Given the description of an element on the screen output the (x, y) to click on. 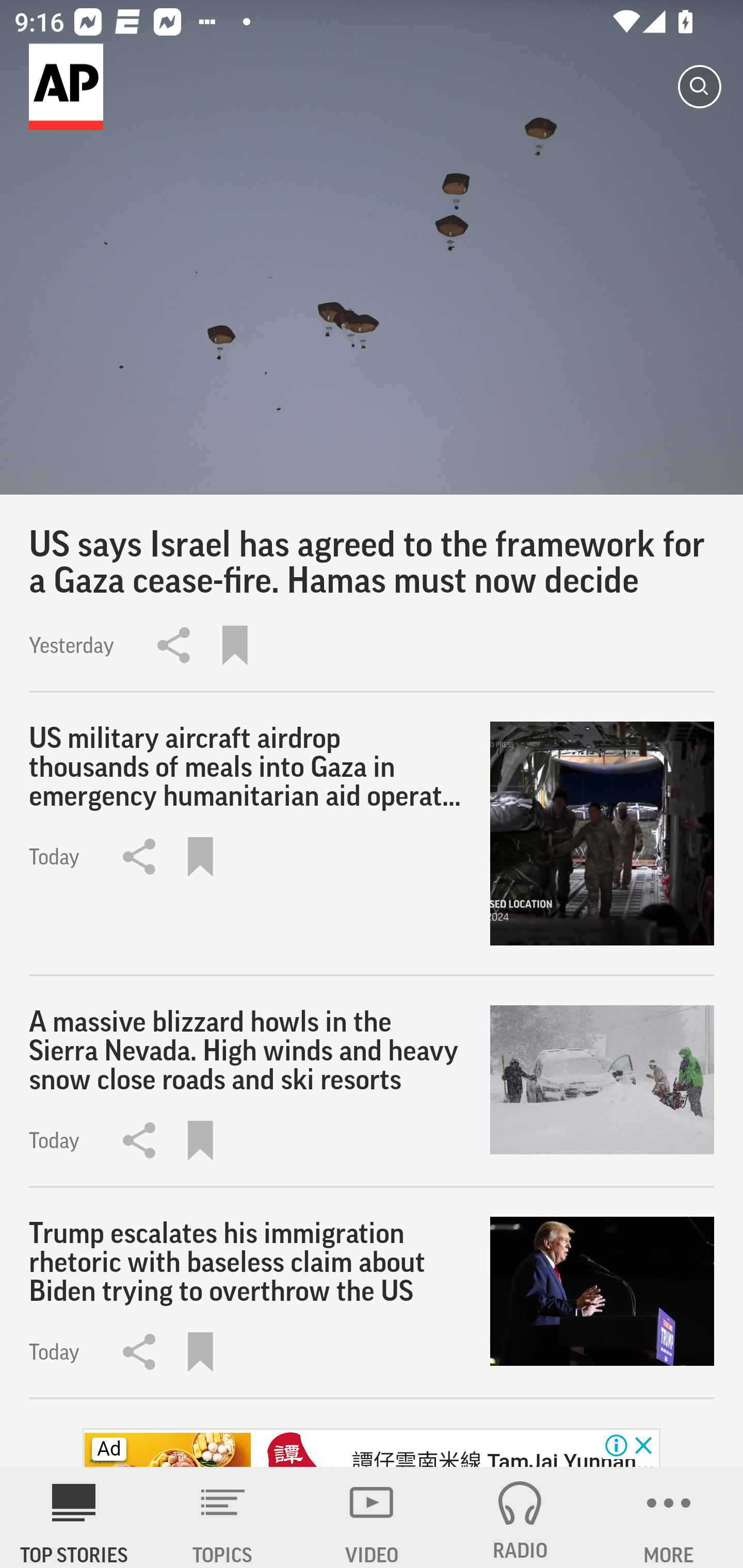
AP News TOP STORIES (74, 1517)
TOPICS (222, 1517)
VIDEO (371, 1517)
RADIO (519, 1517)
MORE (668, 1517)
